Given the description of an element on the screen output the (x, y) to click on. 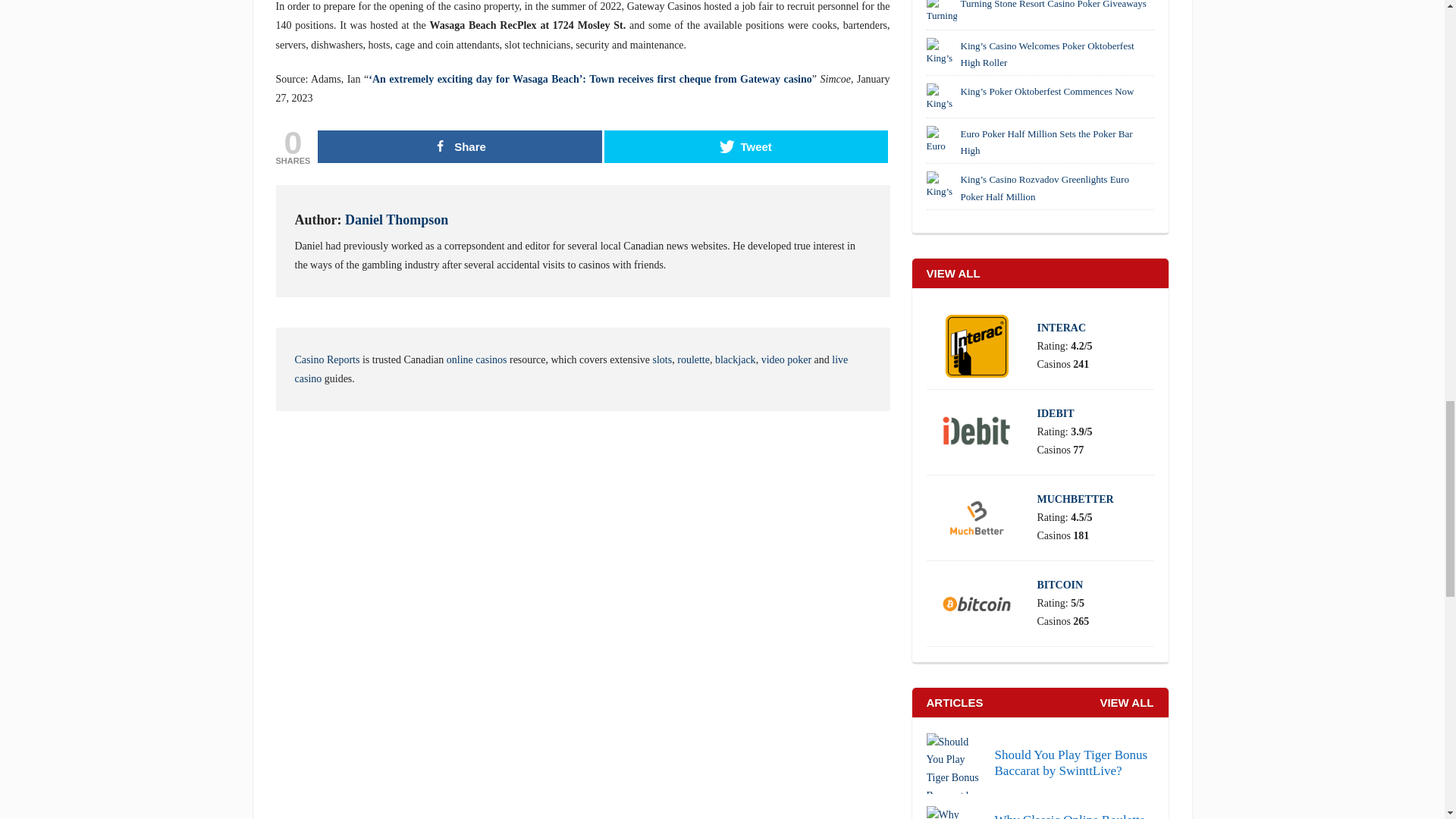
Euro Poker Half Million Sets the Poker Bar High (941, 141)
Turning Stone Resort Casino Poker Giveaways (941, 12)
Should You Play Tiger Bonus Baccarat by SwinttLive? (1040, 763)
